Given the description of an element on the screen output the (x, y) to click on. 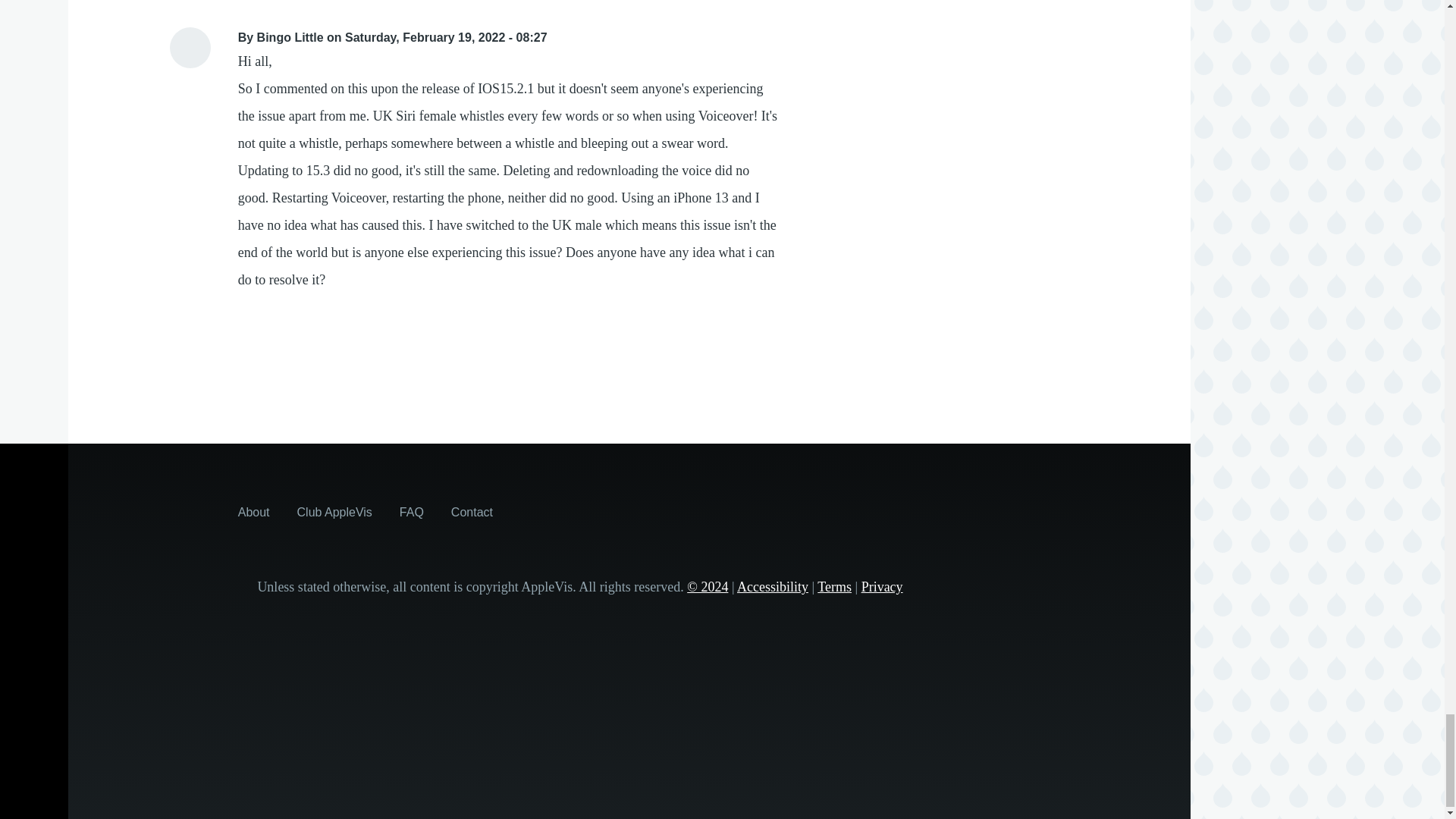
Answers to some frequently asked questions about AppleVis (410, 511)
About (253, 511)
